Given the description of an element on the screen output the (x, y) to click on. 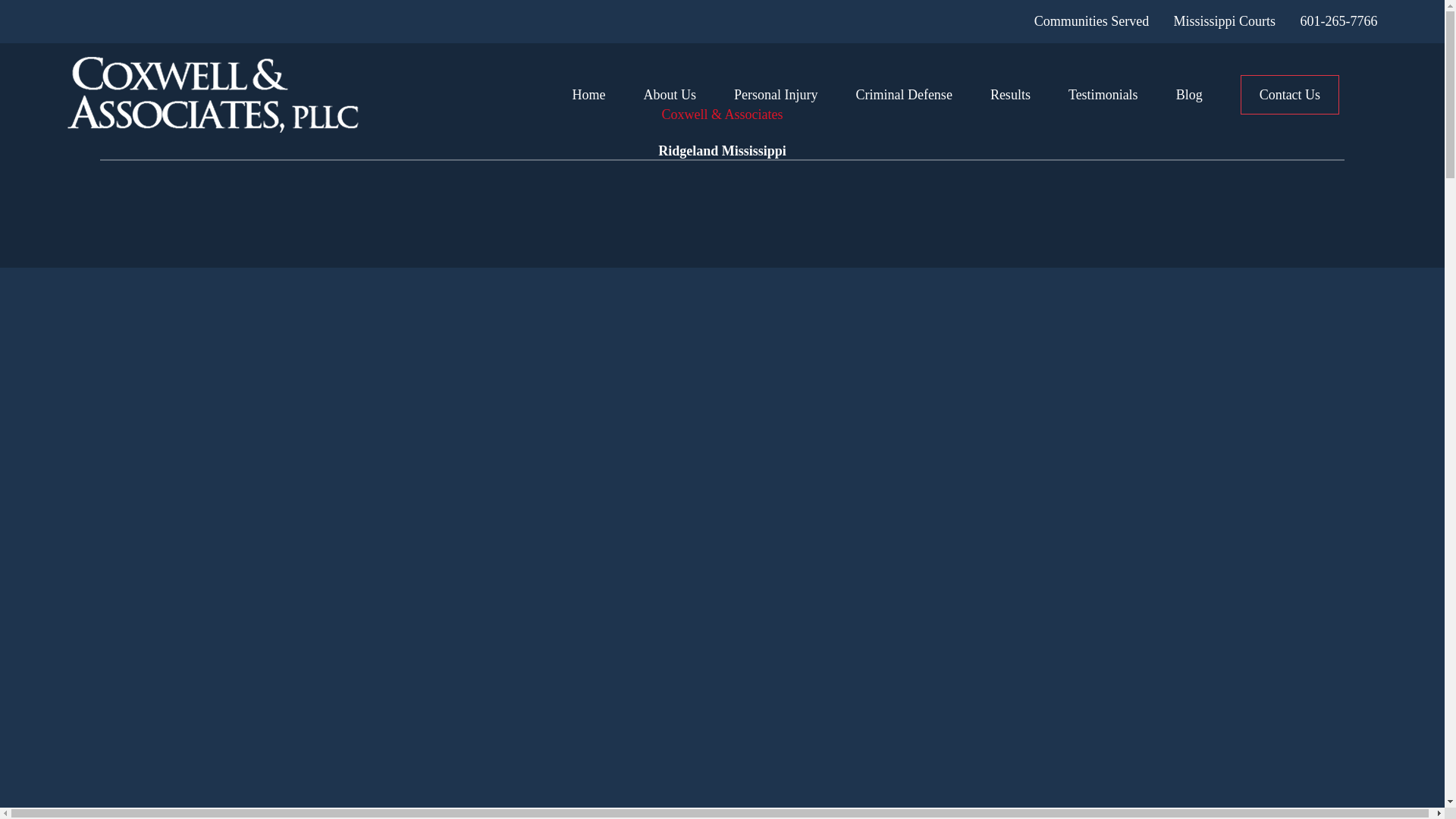
Home (212, 94)
Mississippi Courts (1224, 20)
About Us (669, 94)
Personal Injury (774, 94)
601-265-7766 (1338, 20)
Communities Served (1091, 20)
